Given the description of an element on the screen output the (x, y) to click on. 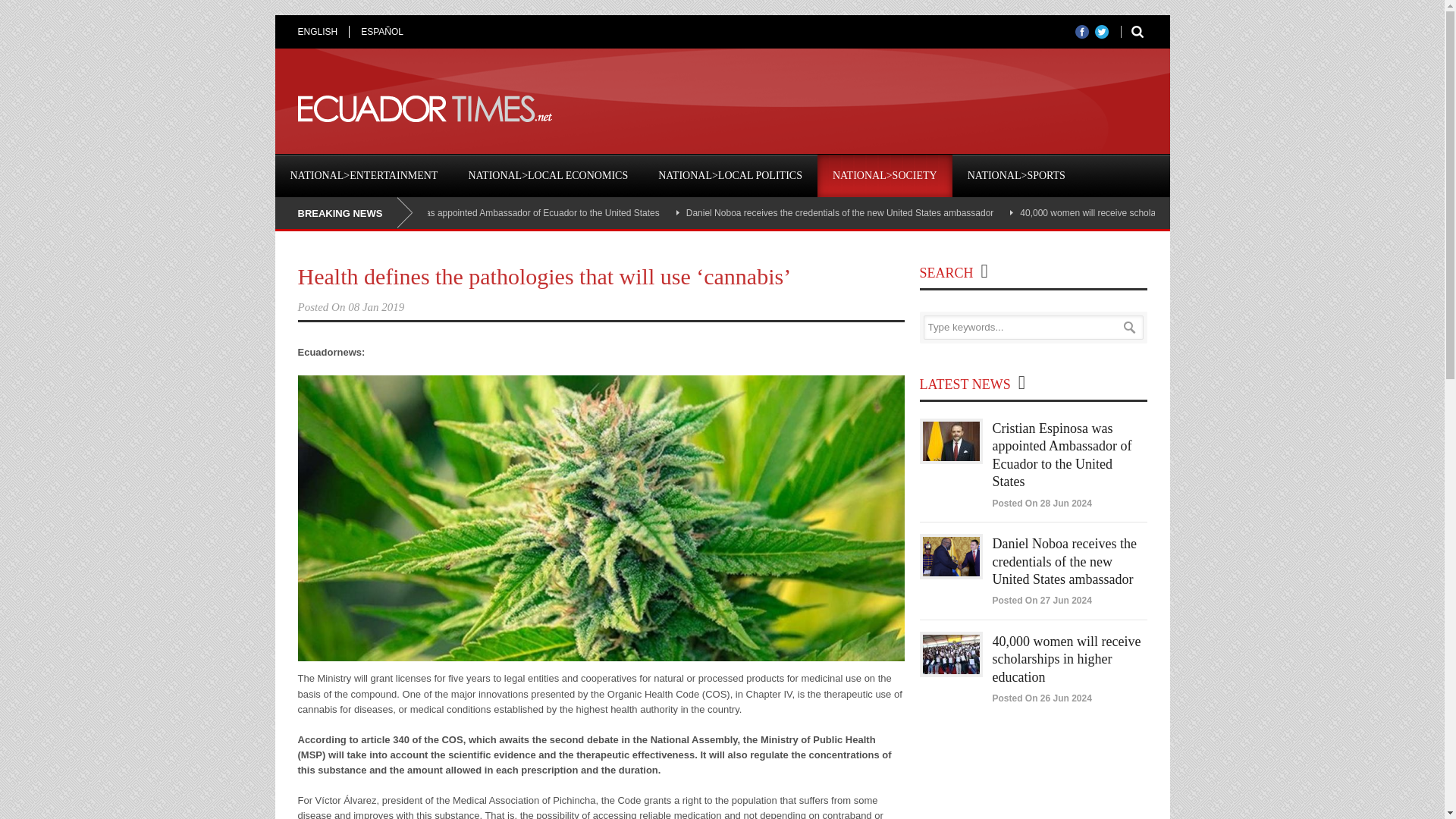
40,000 women will receive scholarships in higher education (1139, 213)
08 Jan 2019 (375, 306)
Advertisement (870, 109)
Advertisement (1032, 781)
Type keywords... (1032, 327)
Posted On 28 Jun 2024 (1040, 502)
ENGLISH (323, 31)
